Given the description of an element on the screen output the (x, y) to click on. 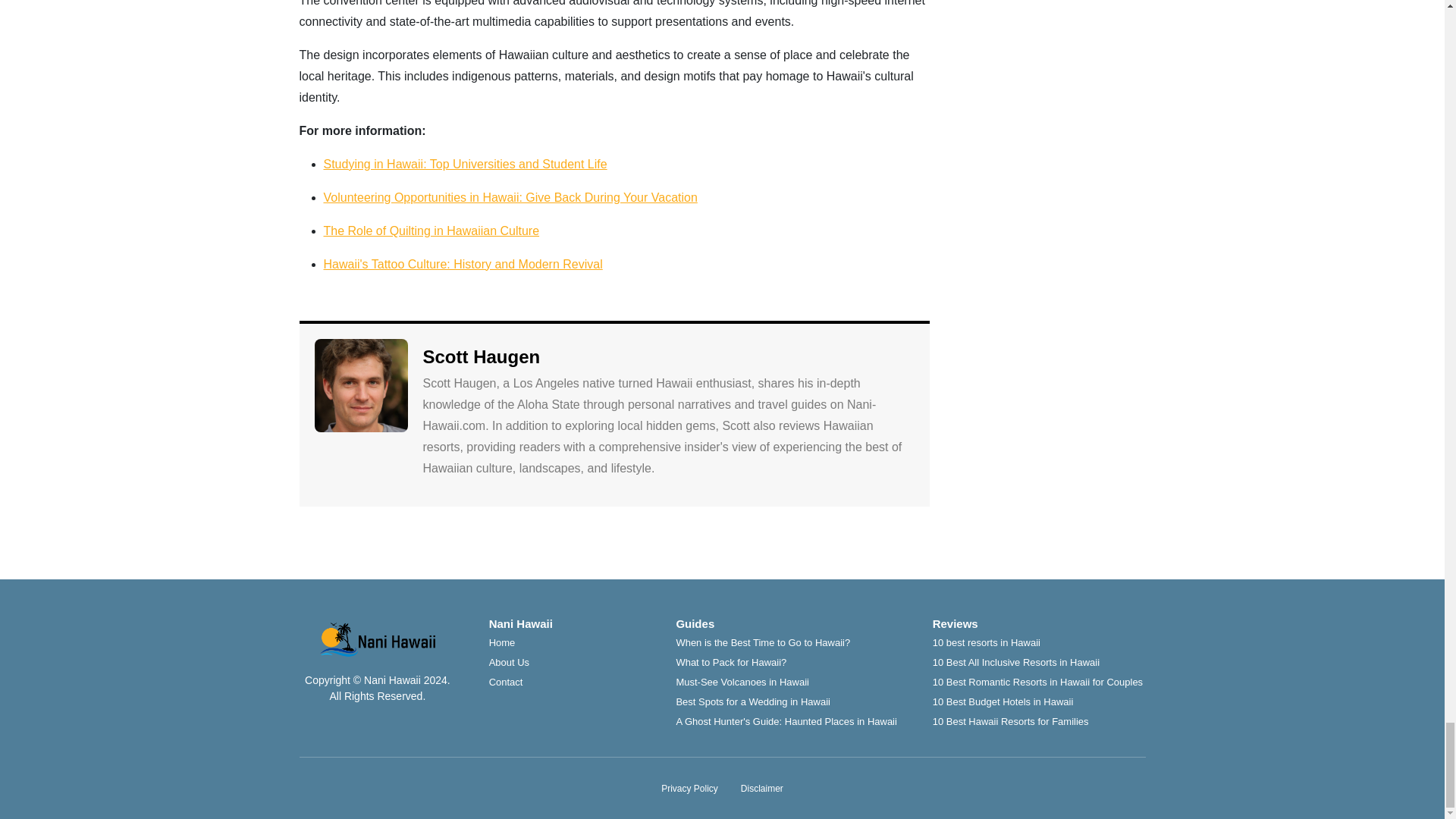
A Ghost Hunter's Guide: Haunted Places in Hawaii (785, 721)
What to Pack for Hawaii? (730, 662)
About Us (509, 662)
Hawaii's Tattoo Culture: History and Modern Revival (462, 264)
Home (502, 642)
When is the Best Time to Go to Hawaii? (762, 642)
The Role of Quilting in Hawaiian Culture (430, 230)
Contact (505, 681)
Must-See Volcanoes in Hawaii (742, 681)
10 best resorts in Hawaii (987, 642)
